Given the description of an element on the screen output the (x, y) to click on. 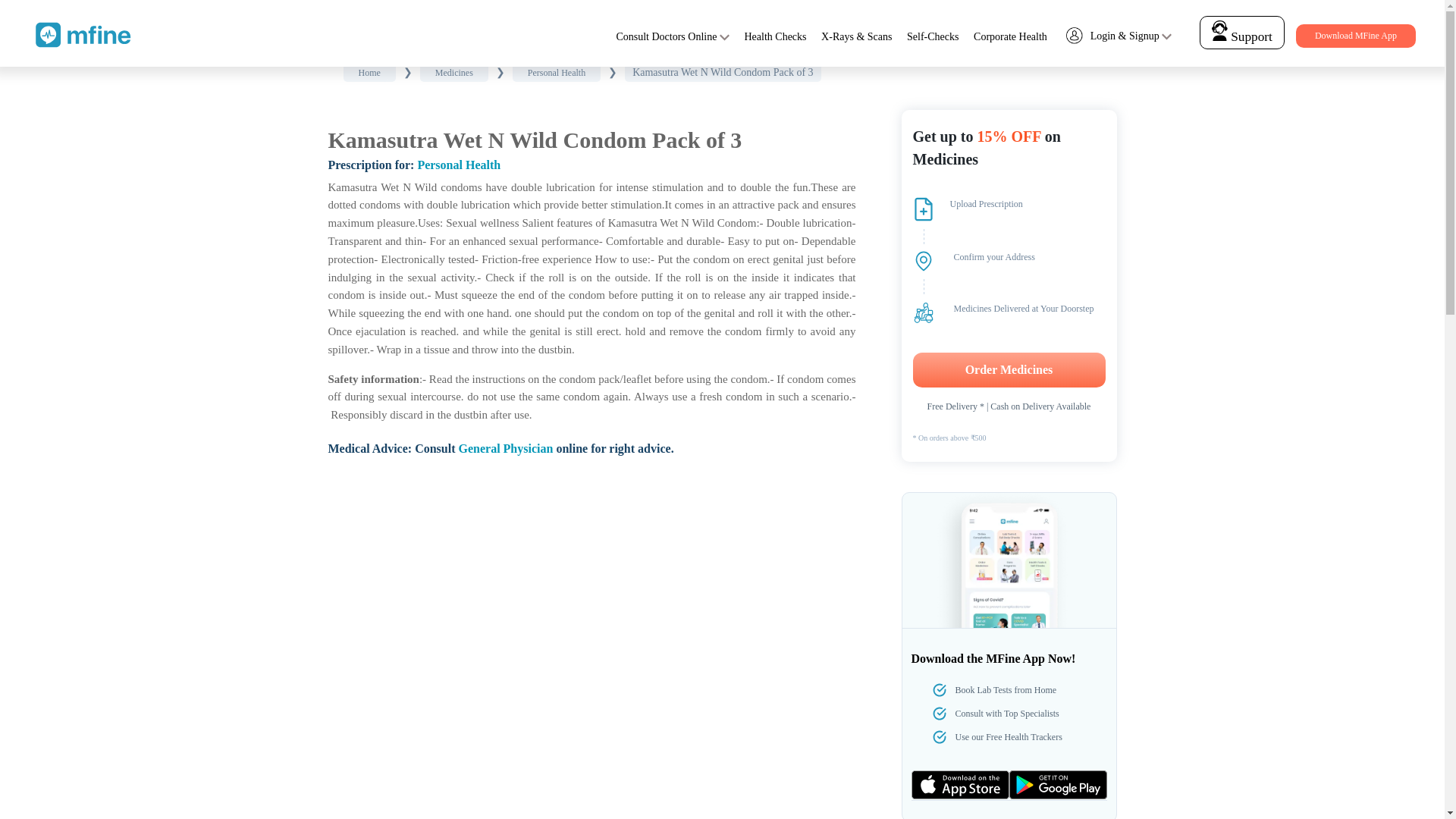
Support (1241, 32)
Support (1241, 36)
Download MFine App (1355, 35)
Self-Checks (932, 36)
Corporate Health (1010, 36)
Health Checks (775, 36)
Consult Doctors Online (665, 36)
